Given the description of an element on the screen output the (x, y) to click on. 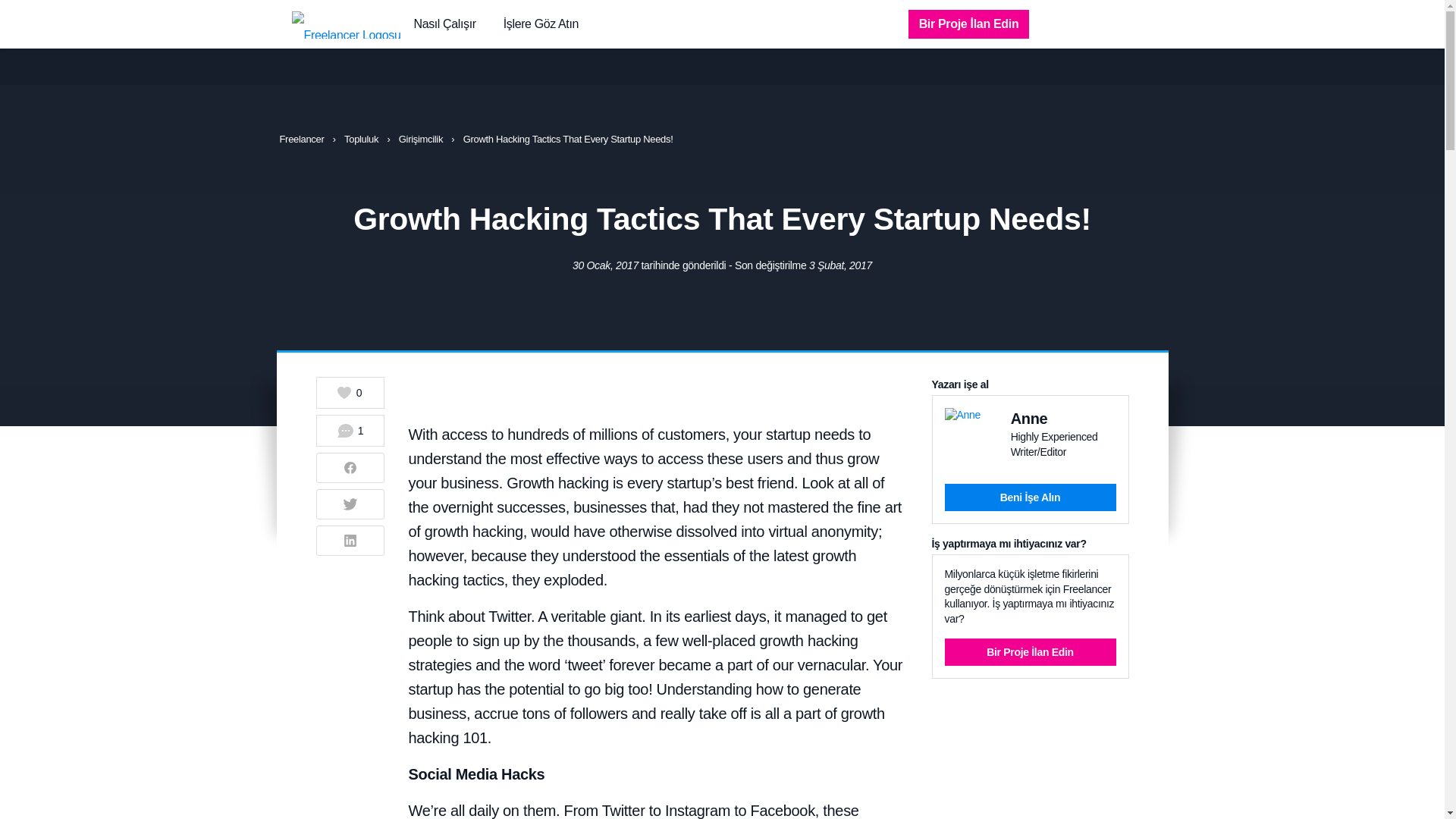
Anne (1029, 418)
1 (349, 430)
Growth Hacking Tactics That Every Startup Needs! (567, 138)
Freelancer (302, 138)
Topluluk (361, 138)
